Given the description of an element on the screen output the (x, y) to click on. 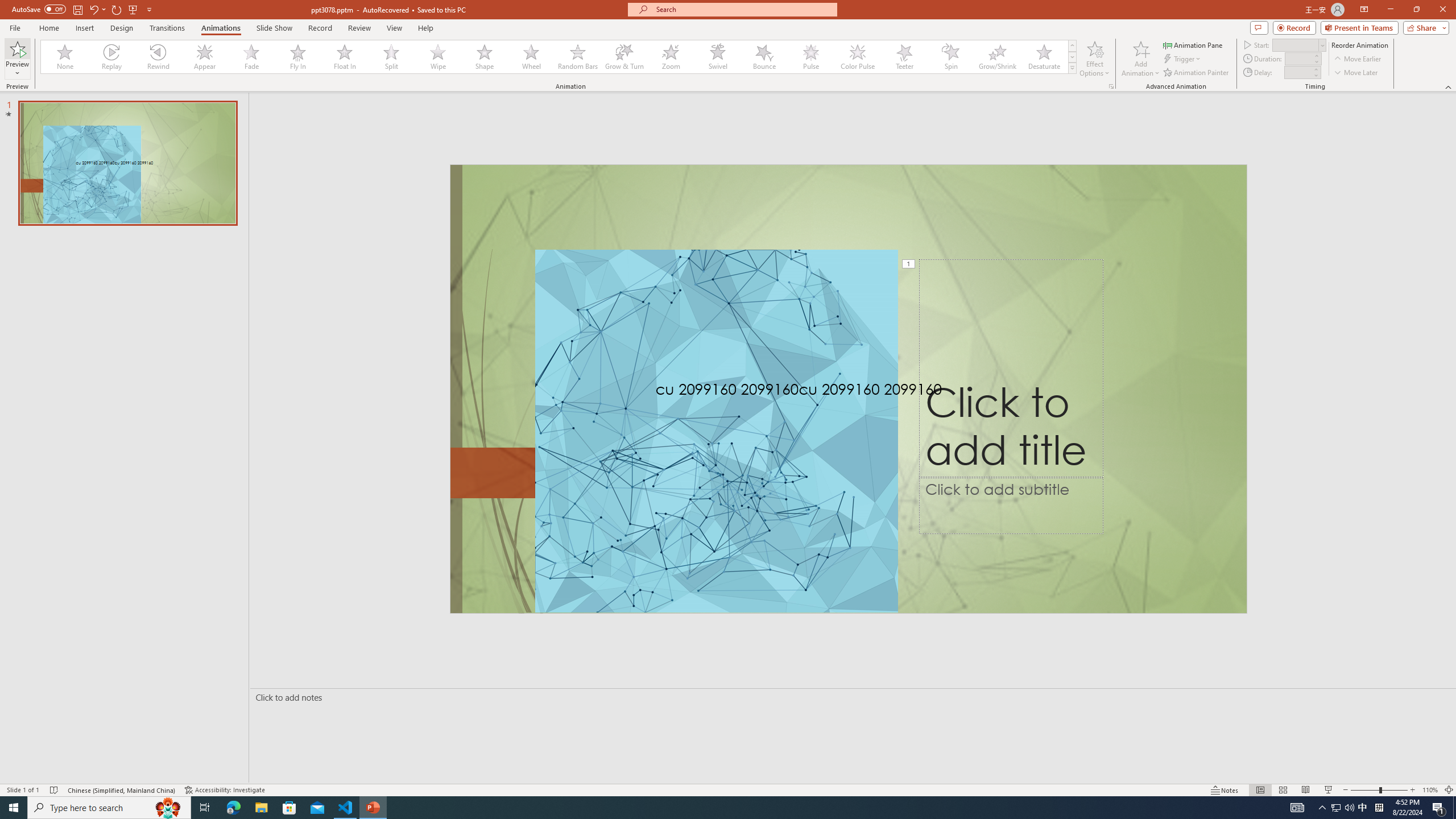
Zoom 110% (1430, 790)
Grow & Turn (624, 56)
Replay (111, 56)
Add Animation (1141, 58)
Effect Options (1094, 58)
Bounce (764, 56)
